Given the description of an element on the screen output the (x, y) to click on. 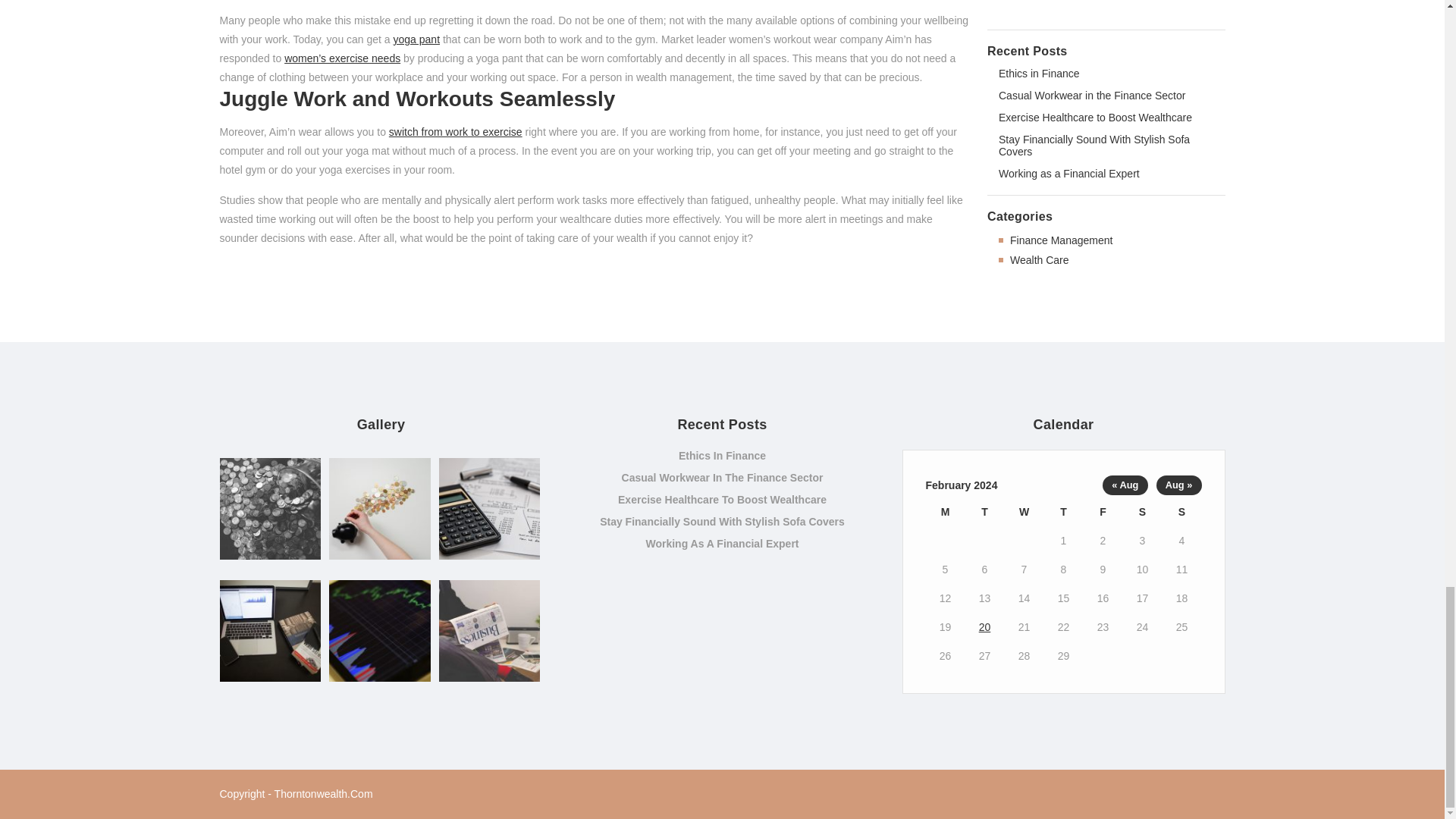
Saturday (1141, 511)
Monday (943, 511)
Thursday (1063, 511)
yoga pant (417, 39)
Tuesday (983, 511)
Wednesday (1023, 511)
switch from work to exercise (455, 131)
Friday (1102, 511)
